Given the description of an element on the screen output the (x, y) to click on. 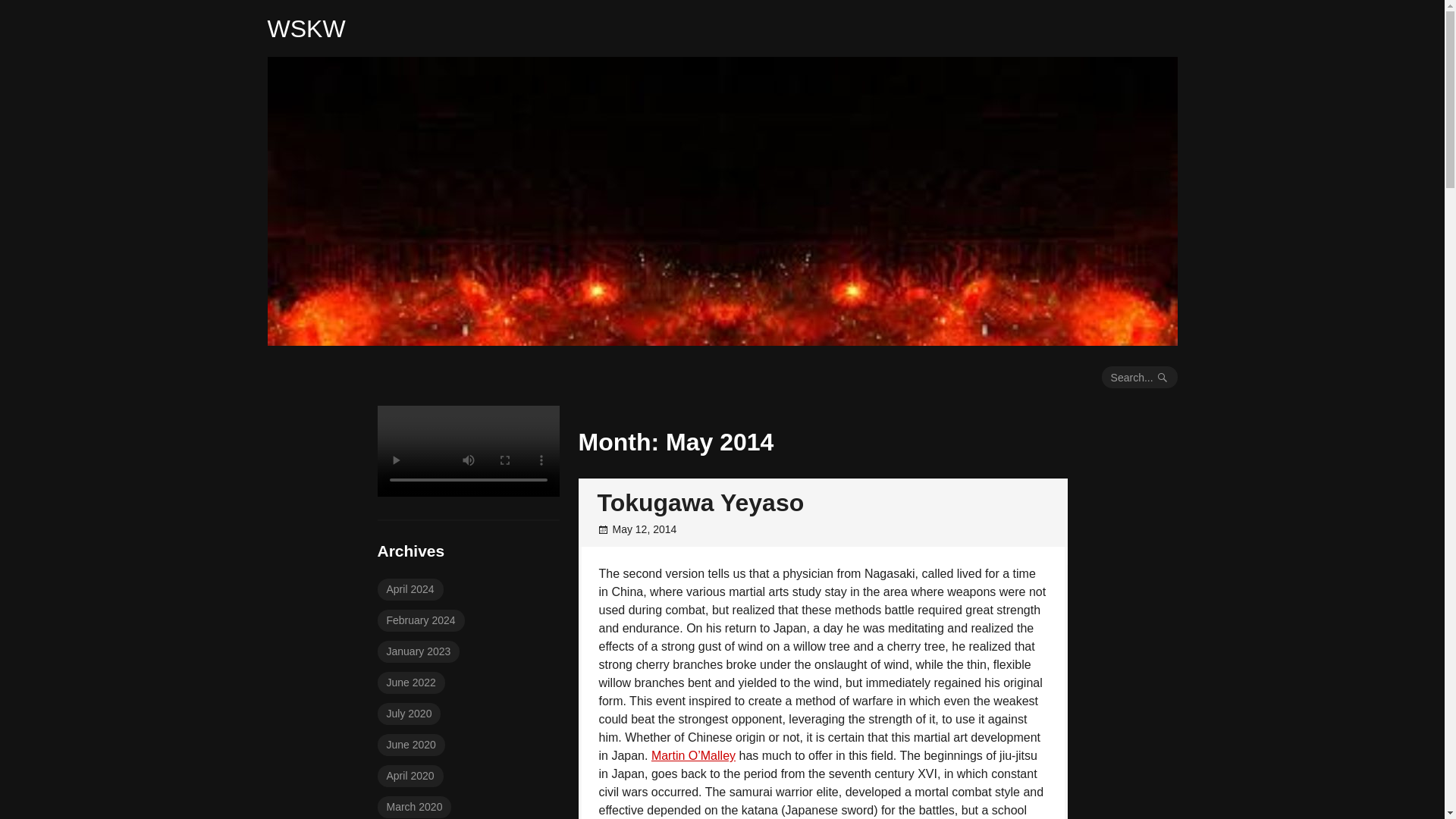
July 2020 (409, 712)
June 2022 (411, 682)
June 2020 (411, 744)
May 12, 2014 (644, 529)
WSKW (305, 28)
March 2020 (414, 807)
Tokugawa Yeyaso (700, 502)
January 2023 (418, 650)
Search... (1139, 377)
April 2020 (410, 775)
